Given the description of an element on the screen output the (x, y) to click on. 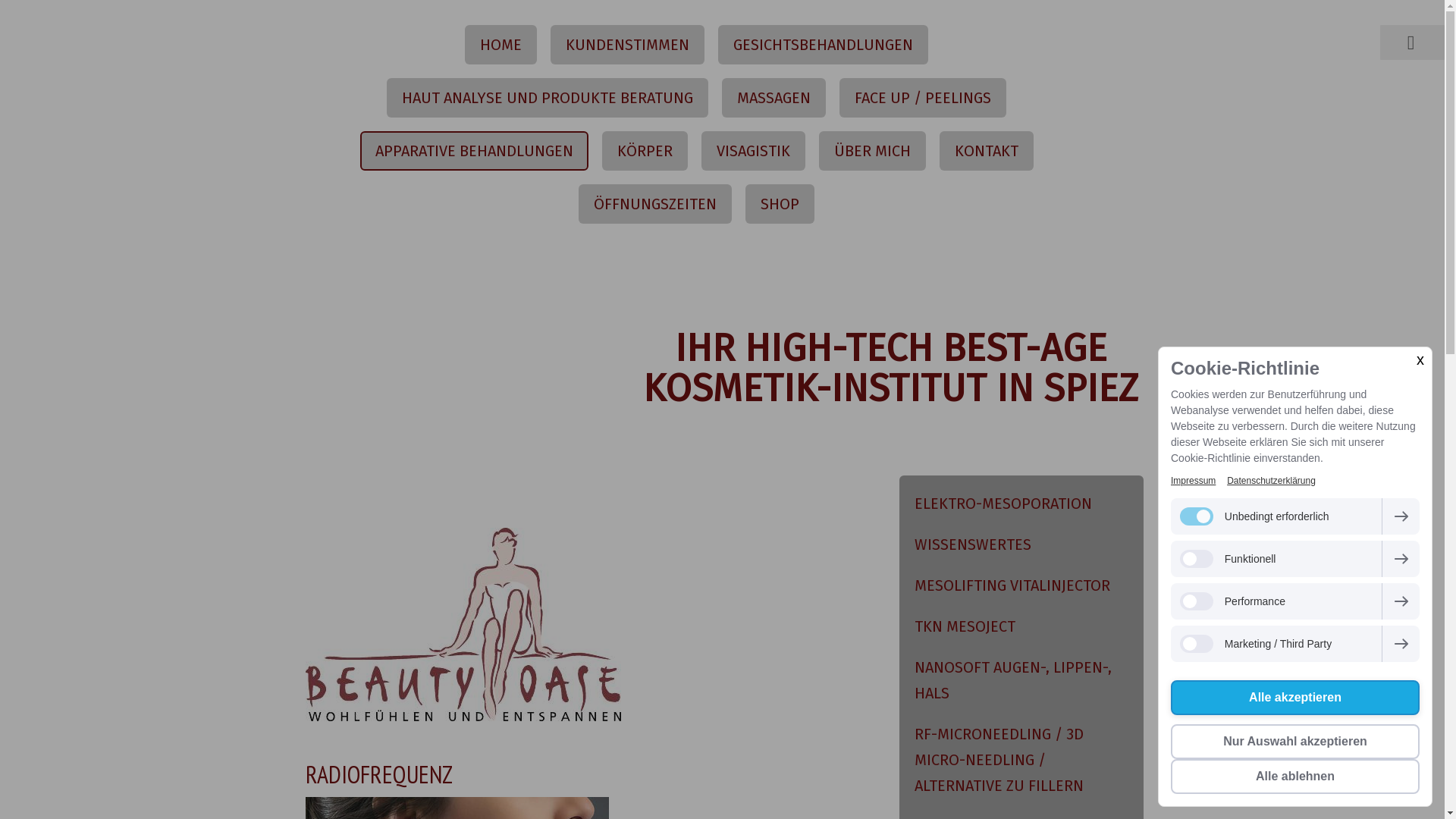
MASSAGEN Element type: text (773, 97)
Nur Auswahl akzeptieren Element type: text (1294, 741)
KONTAKT Element type: text (985, 150)
Alle ablehnen Element type: text (1294, 776)
TKN MESOJECT Element type: text (1021, 625)
Alle akzeptieren Element type: text (1294, 697)
Impressum Element type: text (1192, 480)
APPARATIVE BEHANDLUNGEN Element type: text (473, 150)
WISSENSWERTES Element type: text (1021, 544)
GESICHTSBEHANDLUNGEN Element type: text (823, 44)
HOME Element type: text (500, 44)
SHOP Element type: text (779, 203)
IHR HIGH-TECH BEST-AGE
KOSMETIK-INSTITUT IN SPIEZ Element type: text (890, 367)
NANOSOFT AUGEN-, LIPPEN-, HALS Element type: text (1021, 679)
VISAGISTIK Element type: text (752, 150)
HAUT ANALYSE UND PRODUKTE BERATUNG Element type: text (547, 97)
FACE UP / PEELINGS Element type: text (922, 97)
MESOLIFTING VITALINJECTOR Element type: text (1021, 584)
ELEKTRO-MESOPORATION Element type: text (1021, 499)
KUNDENSTIMMEN Element type: text (627, 44)
